Given the description of an element on the screen output the (x, y) to click on. 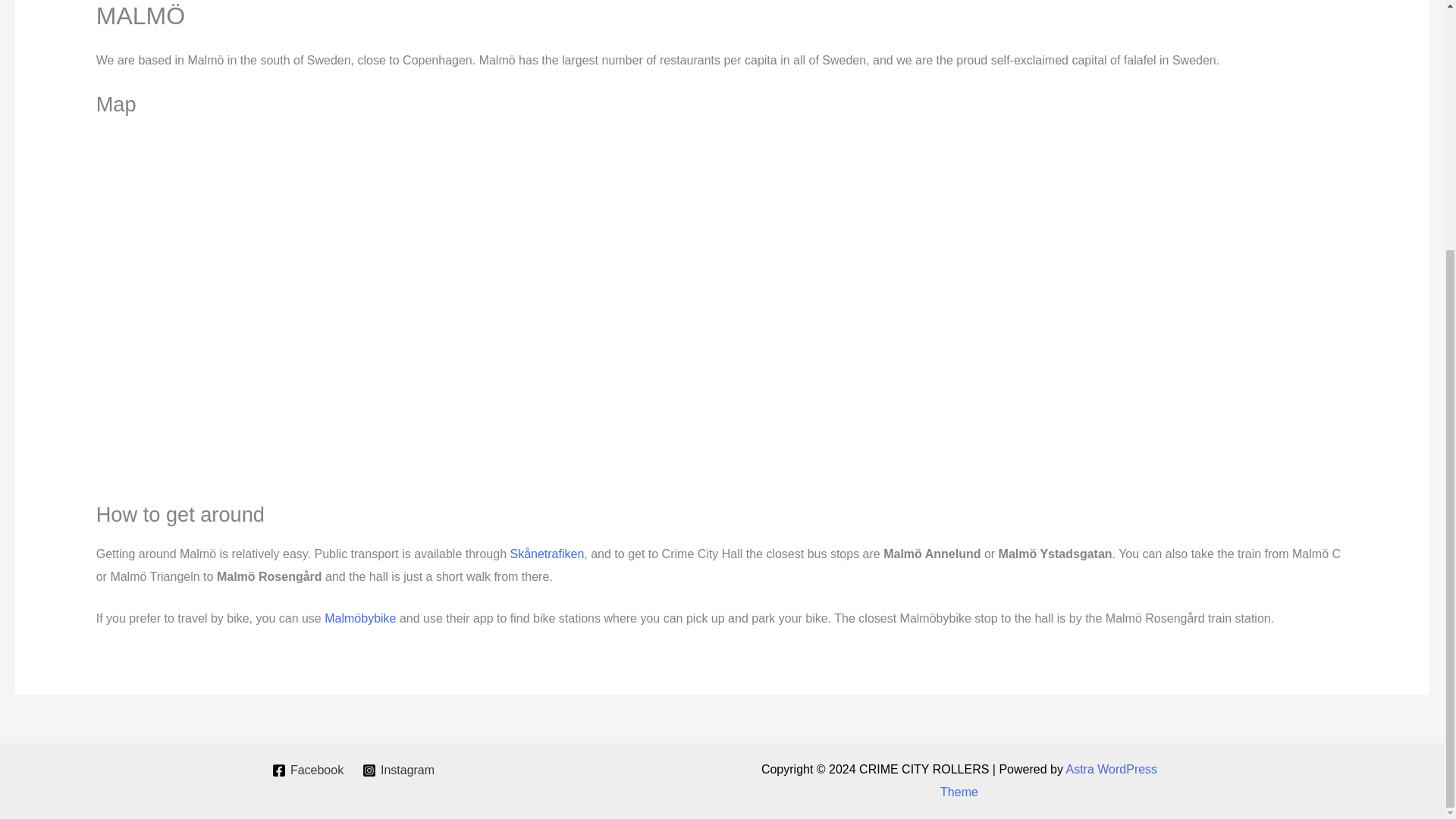
Facebook (306, 770)
Instagram (398, 770)
Astra WordPress Theme (1048, 780)
